Given the description of an element on the screen output the (x, y) to click on. 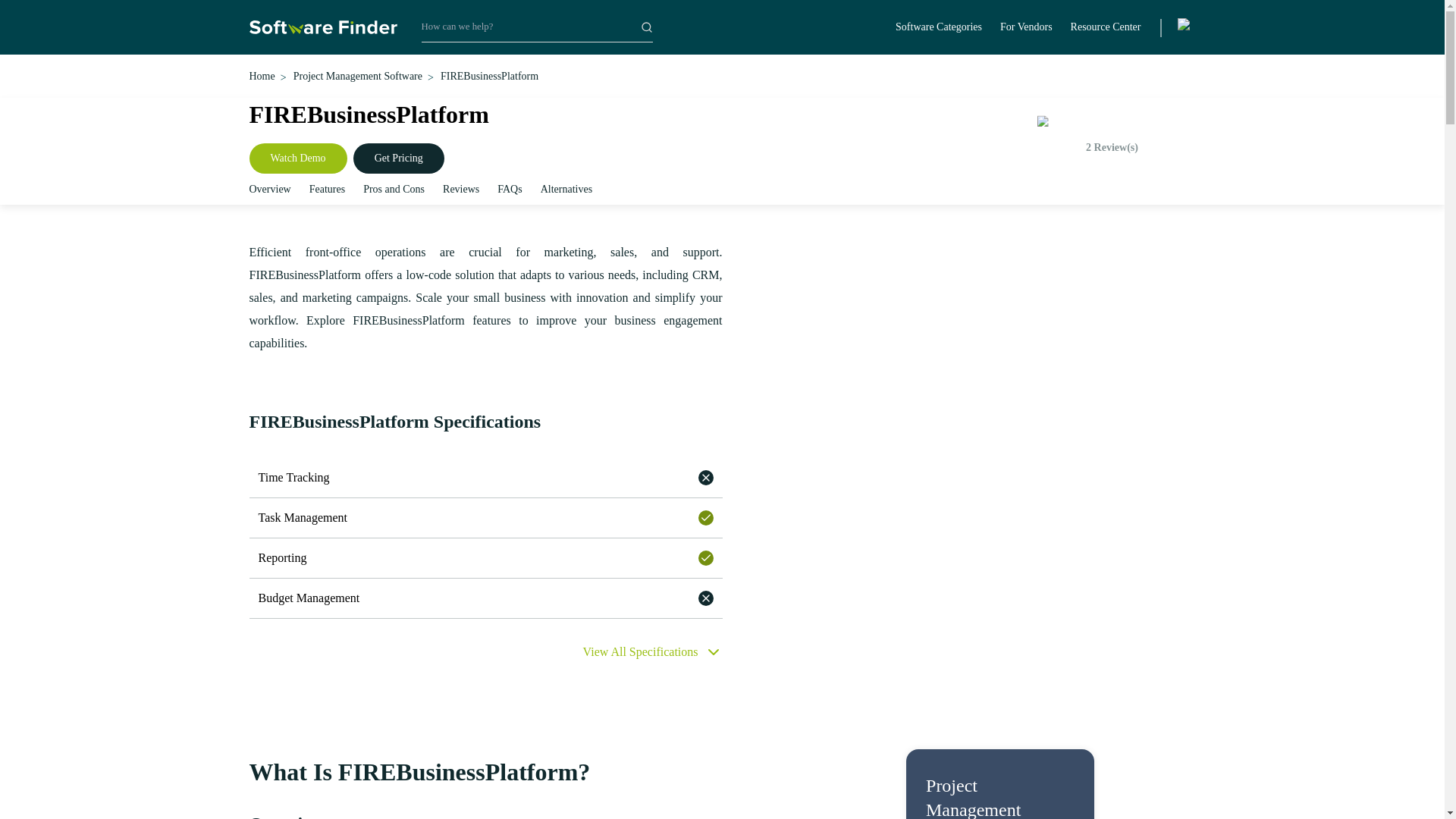
Watch Demo (297, 158)
FIREBusinessPlatform (489, 75)
Get Pricing (398, 158)
Alternatives (566, 188)
Home (261, 75)
Overview (268, 188)
FAQs (509, 188)
Features (326, 188)
Pros and Cons (393, 188)
Resource Center (1105, 26)
